Given the description of an element on the screen output the (x, y) to click on. 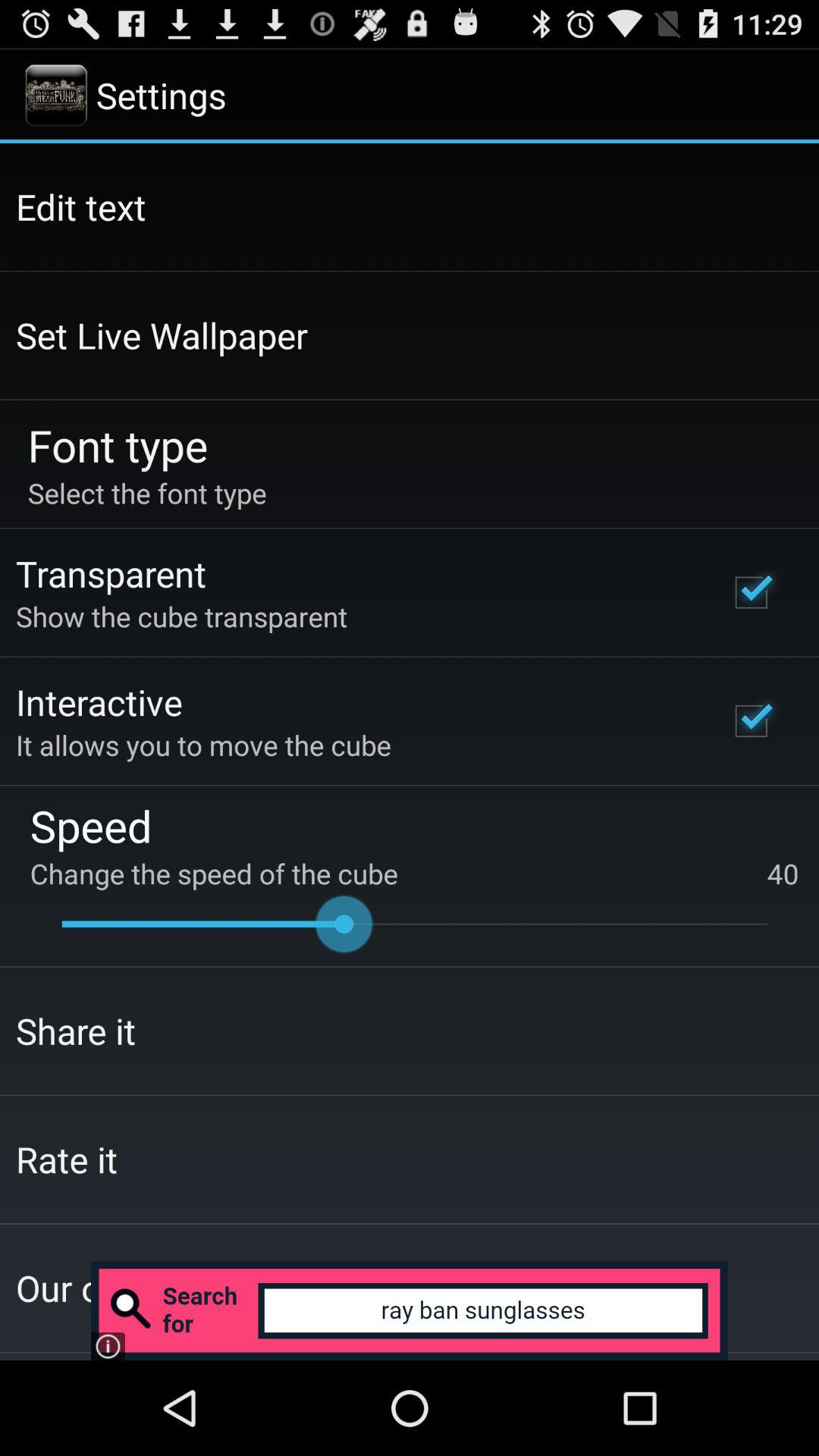
swipe to the change the speed icon (414, 873)
